Given the description of an element on the screen output the (x, y) to click on. 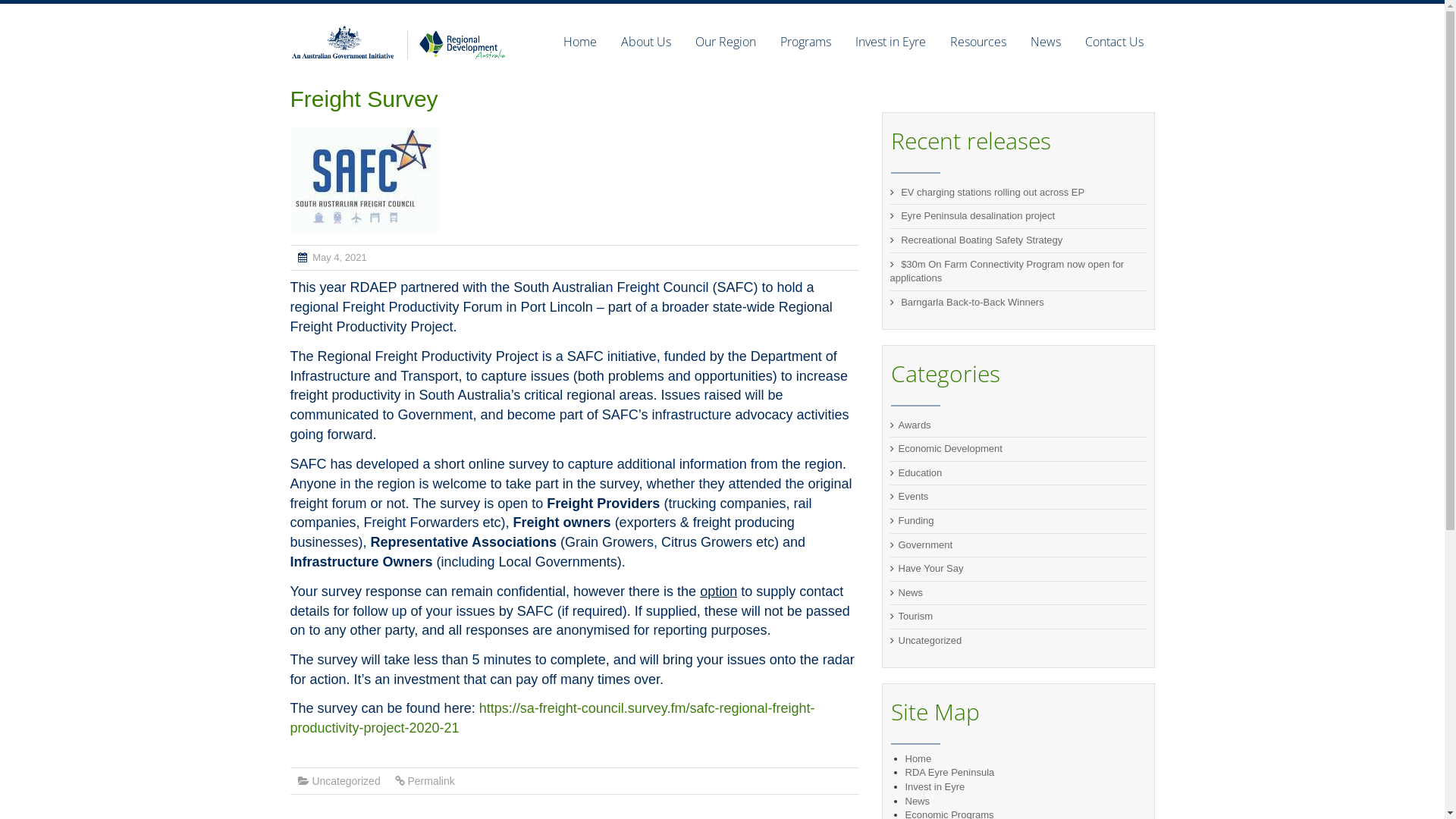
Uncategorized Element type: text (345, 781)
News Element type: text (917, 800)
RDA Eyre Peninsula Element type: text (949, 772)
Government Element type: text (924, 544)
News Element type: text (1044, 41)
Skip to content Element type: text (529, 10)
Invest in Eyre Element type: text (935, 786)
May 4, 2021 Element type: text (339, 257)
Tourism Element type: text (914, 615)
Have Your Say Element type: text (930, 568)
$30m On Farm Connectivity Program now open for applications Element type: text (1007, 271)
News Element type: text (909, 592)
Invest in Eyre Element type: text (890, 41)
Home Element type: text (579, 41)
Events Element type: text (912, 496)
About Us Element type: text (645, 41)
Funding Element type: text (915, 520)
Resources Element type: text (977, 41)
Our Region Element type: text (724, 41)
Recreational Boating Safety Strategy Element type: text (981, 239)
EV charging stations rolling out across EP Element type: text (992, 191)
Awards Element type: text (913, 424)
Barngarla Back-to-Back Winners Element type: text (972, 301)
Programs Element type: text (804, 41)
Permalink Element type: text (430, 781)
Economic Development Element type: text (949, 448)
Eyre Peninsula desalination project Element type: text (977, 215)
Contact Us Element type: text (1107, 41)
Uncategorized Element type: text (929, 640)
Home Element type: text (918, 758)
Education Element type: text (919, 472)
